Given the description of an element on the screen output the (x, y) to click on. 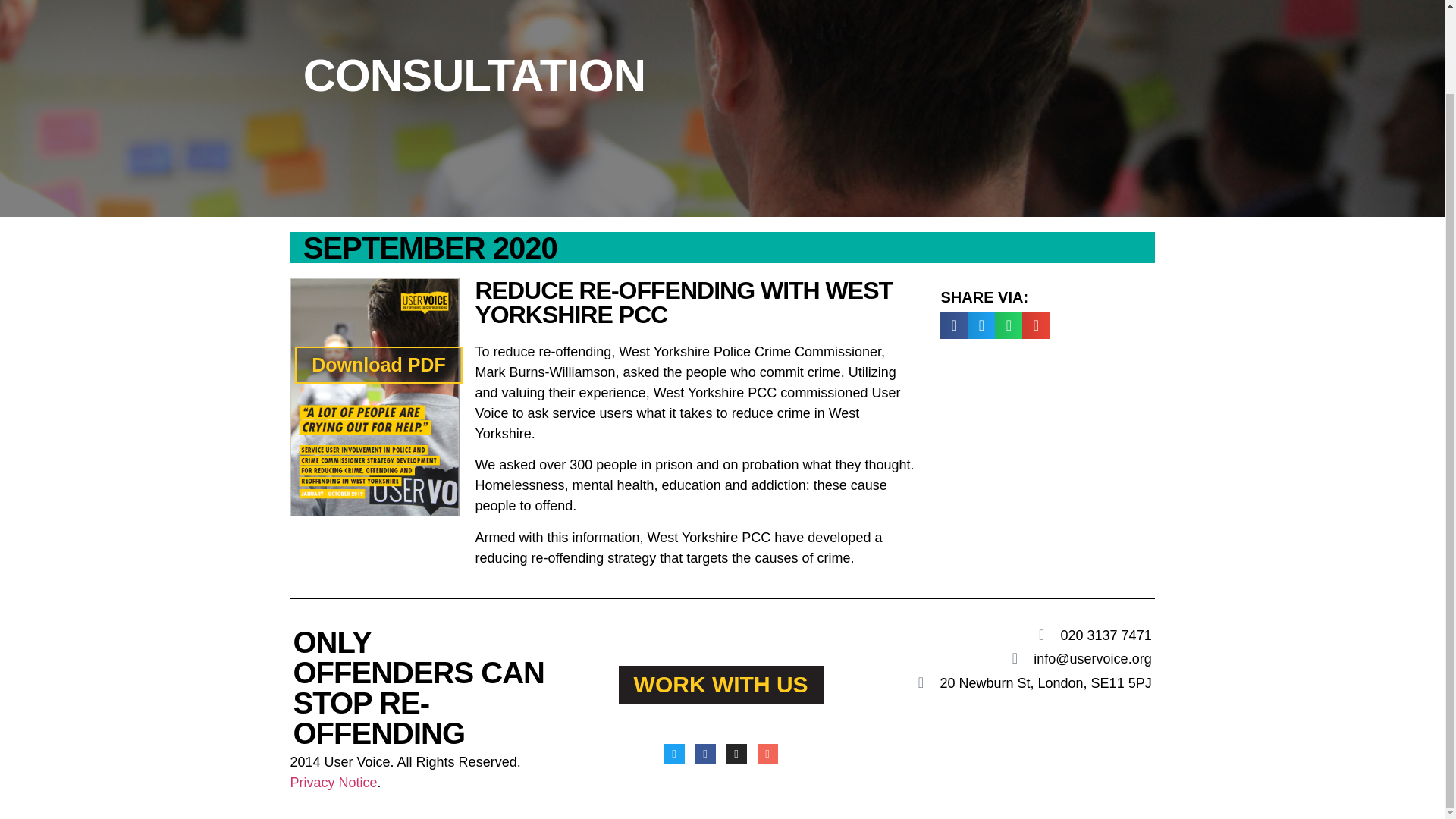
Privacy Notice (333, 782)
Download PDF (378, 365)
WORK WITH US (721, 684)
